Given the description of an element on the screen output the (x, y) to click on. 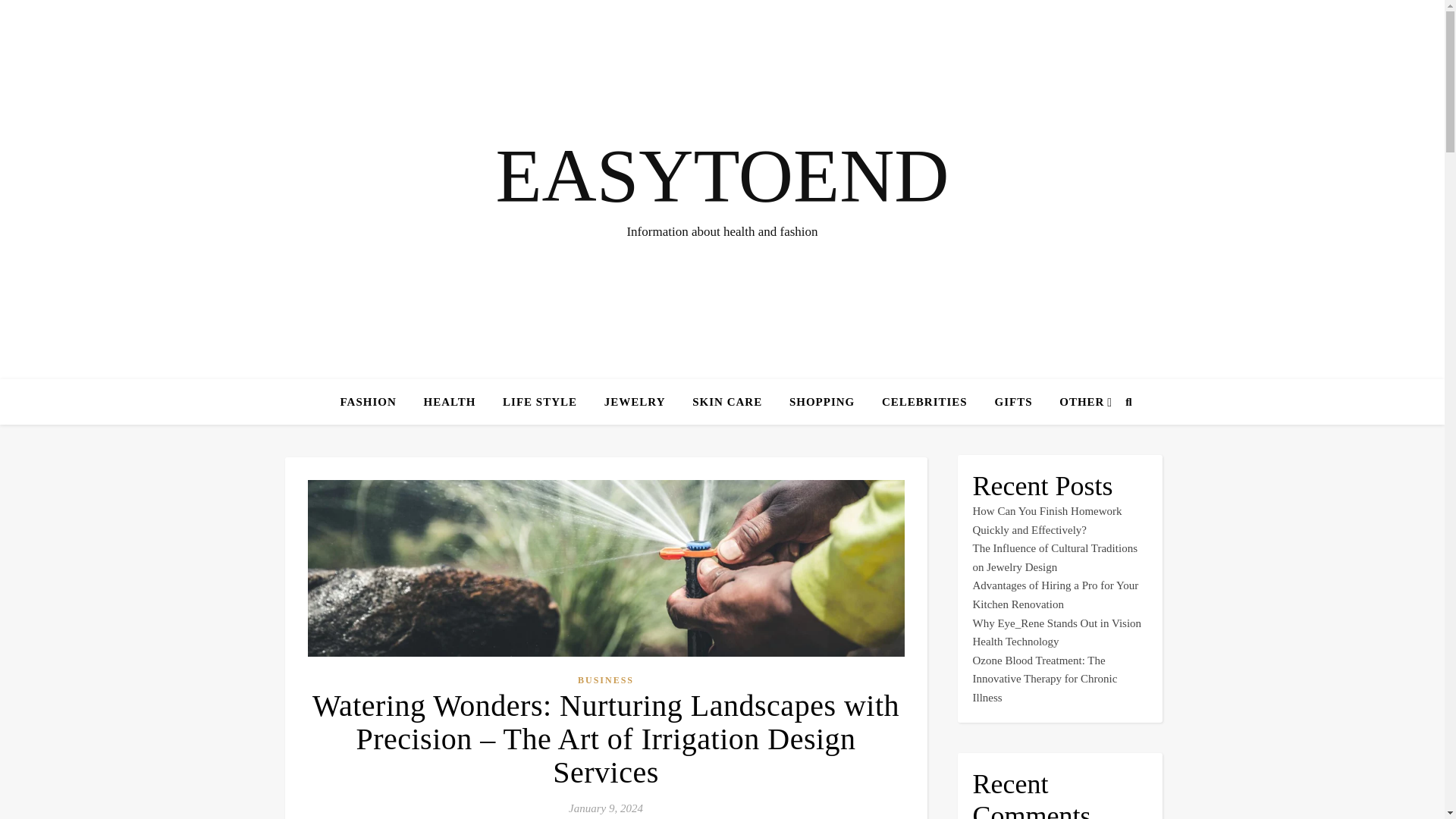
GIFTS (1012, 402)
HEALTH (449, 402)
The Influence of Cultural Traditions on Jewelry Design (1054, 557)
CELEBRITIES (924, 402)
OTHER (1074, 402)
JEWELRY (635, 402)
LIFE STYLE (539, 402)
SKIN CARE (726, 402)
BUSINESS (605, 680)
SHOPPING (821, 402)
